Given the description of an element on the screen output the (x, y) to click on. 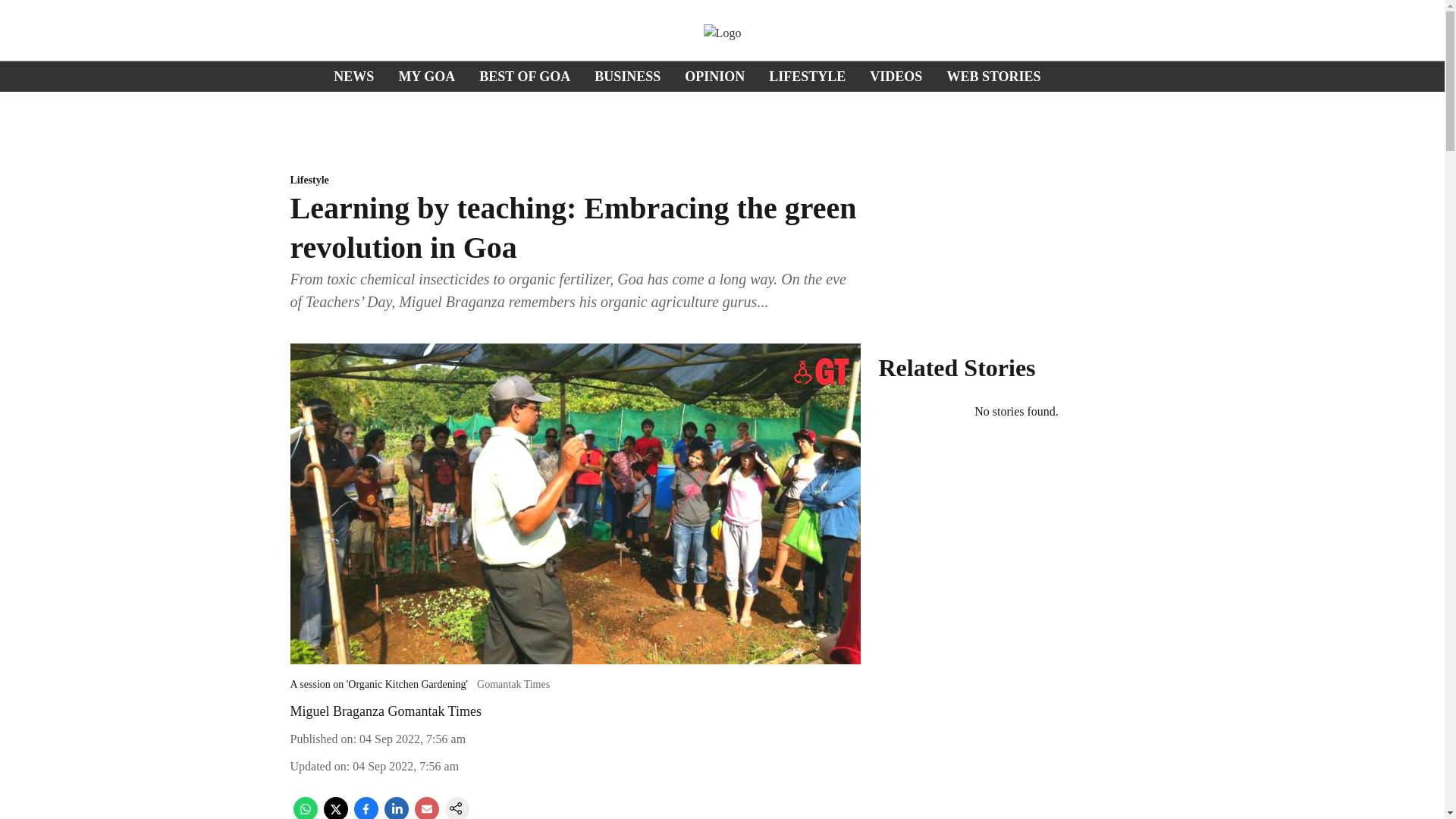
Dark Mode (1415, 76)
NEWS (353, 76)
VIDEOS (895, 76)
OPINION (714, 76)
BEST OF GOA (524, 76)
Miguel Braganza Gomantak Times (384, 711)
LIFESTYLE (806, 76)
MY GOA (425, 76)
Lifestyle (574, 180)
